Given the description of an element on the screen output the (x, y) to click on. 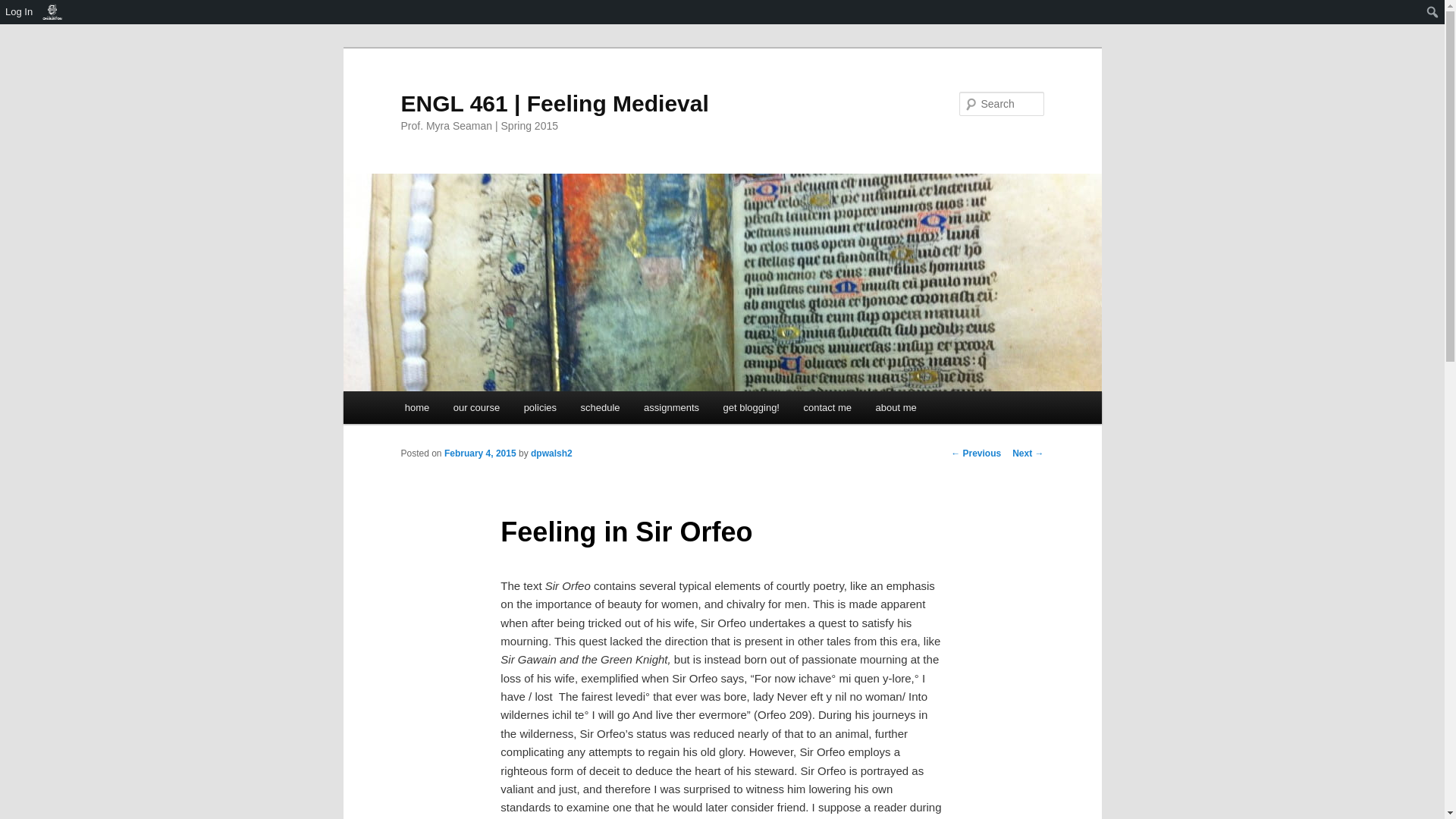
7:51 pm (480, 452)
Search (16, 13)
home (417, 407)
assignments (670, 407)
schedule (600, 407)
contact me (827, 407)
dpwalsh2 (551, 452)
Search (24, 8)
policies (540, 407)
